Given the description of an element on the screen output the (x, y) to click on. 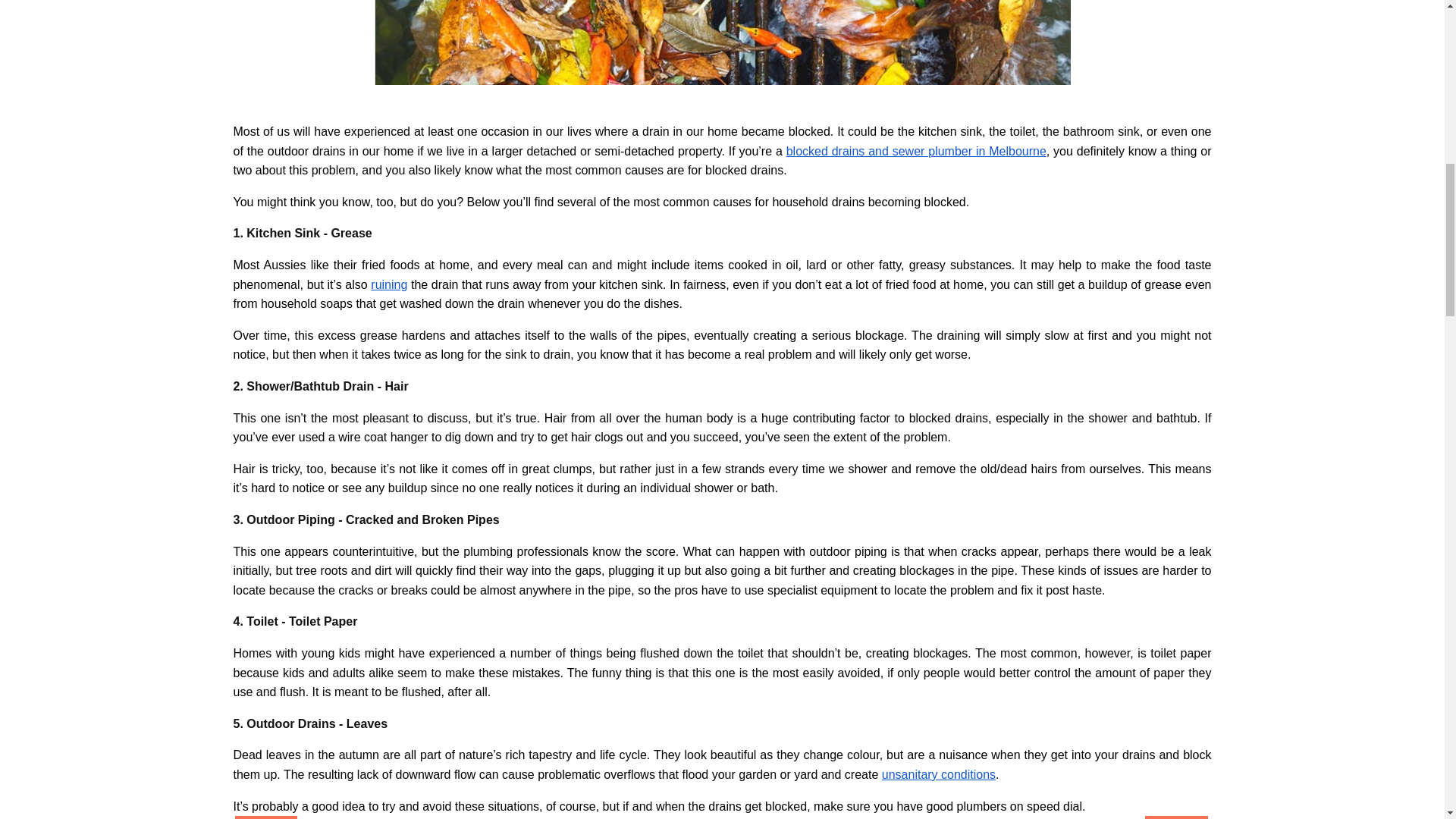
ruining (389, 284)
blocked drains and sewer plumber in Melbourne (916, 151)
NEXT (1175, 817)
unsanitary conditions (938, 774)
PREV (266, 817)
